Given the description of an element on the screen output the (x, y) to click on. 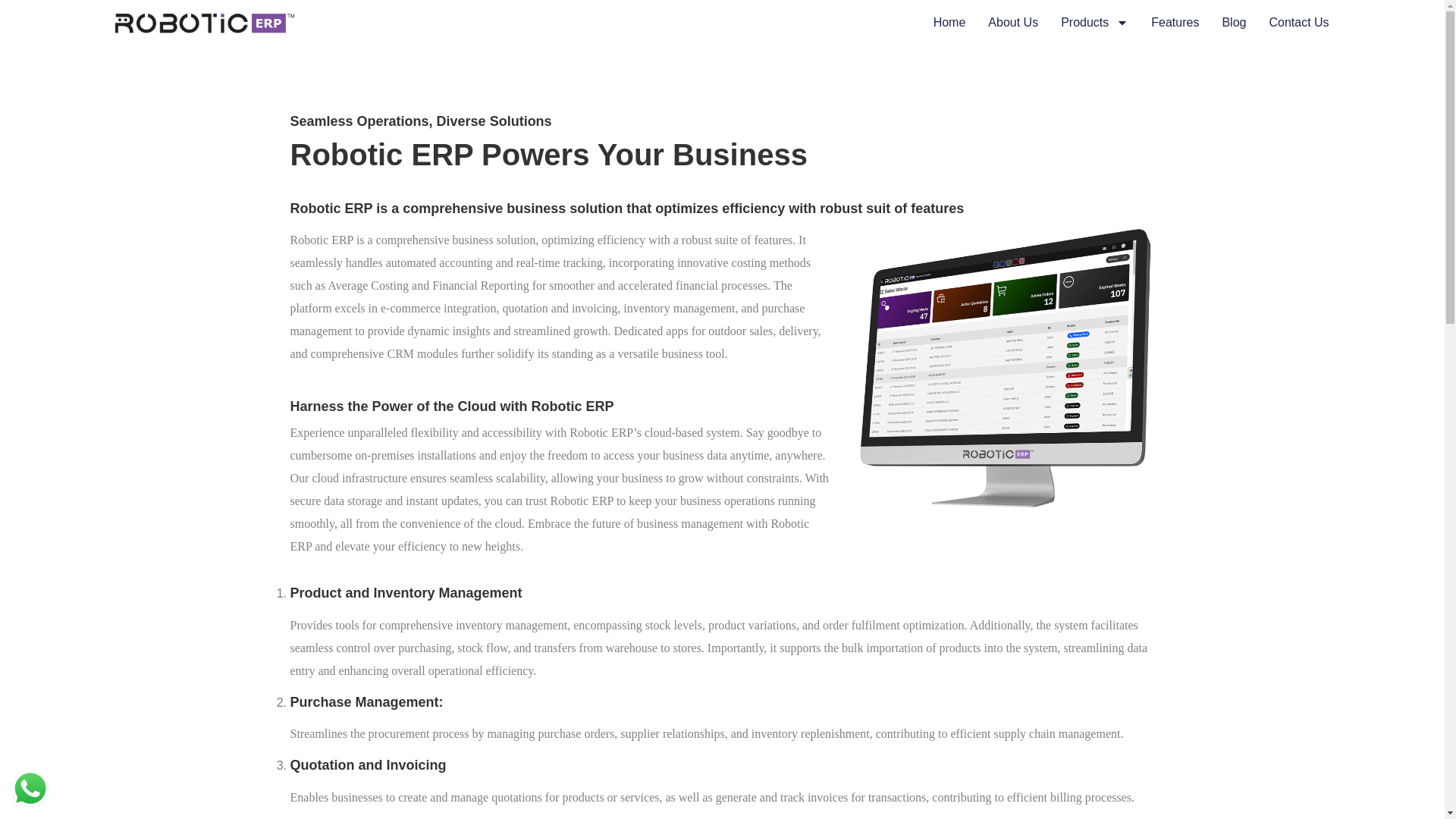
Contact Us (1297, 22)
Home (949, 22)
Products (1094, 22)
About Us (1013, 22)
Features (1174, 22)
Blog (1233, 22)
